Given the description of an element on the screen output the (x, y) to click on. 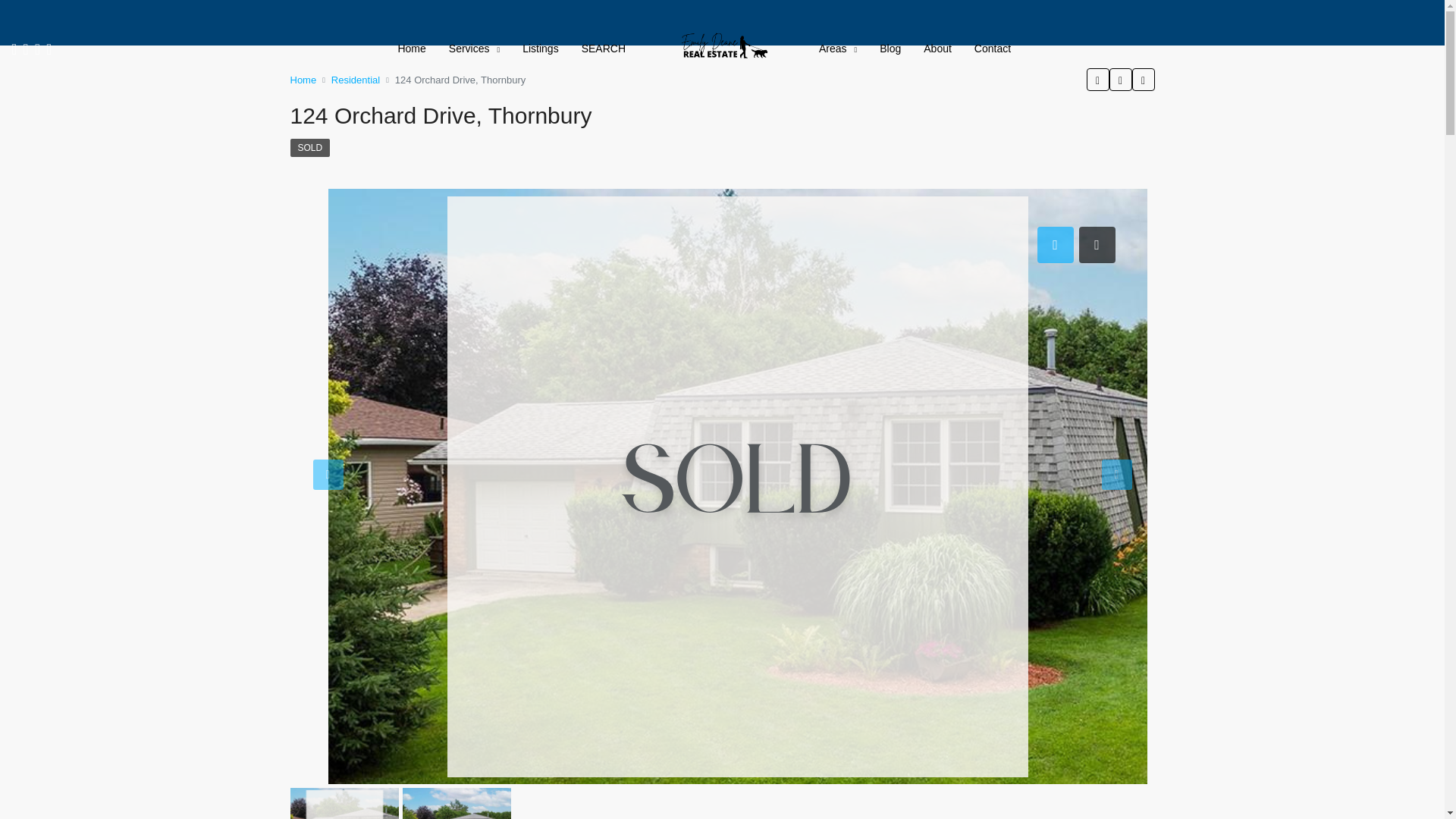
Areas (837, 48)
Listings (540, 48)
Home (410, 48)
SEARCH (603, 48)
Services (474, 48)
Contact (992, 48)
About (937, 48)
Blog (889, 48)
